Given the description of an element on the screen output the (x, y) to click on. 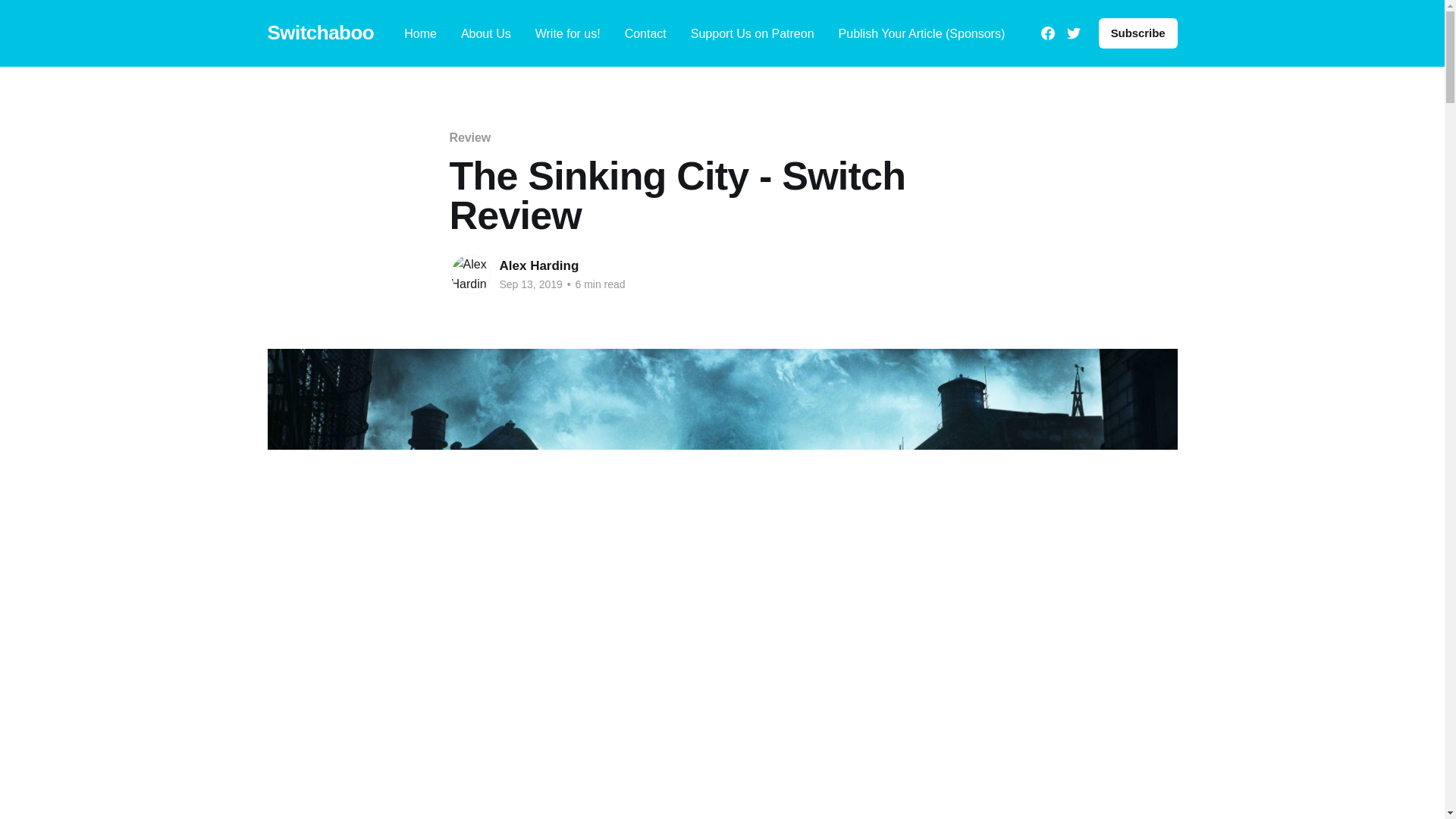
Write for us! (567, 33)
Alex Harding (538, 265)
Review (469, 137)
About Us (486, 33)
Home (420, 33)
Subscribe (1138, 33)
Support Us on Patreon (751, 33)
Contact (645, 33)
Facebook (1047, 33)
Twitter (1073, 33)
